Given the description of an element on the screen output the (x, y) to click on. 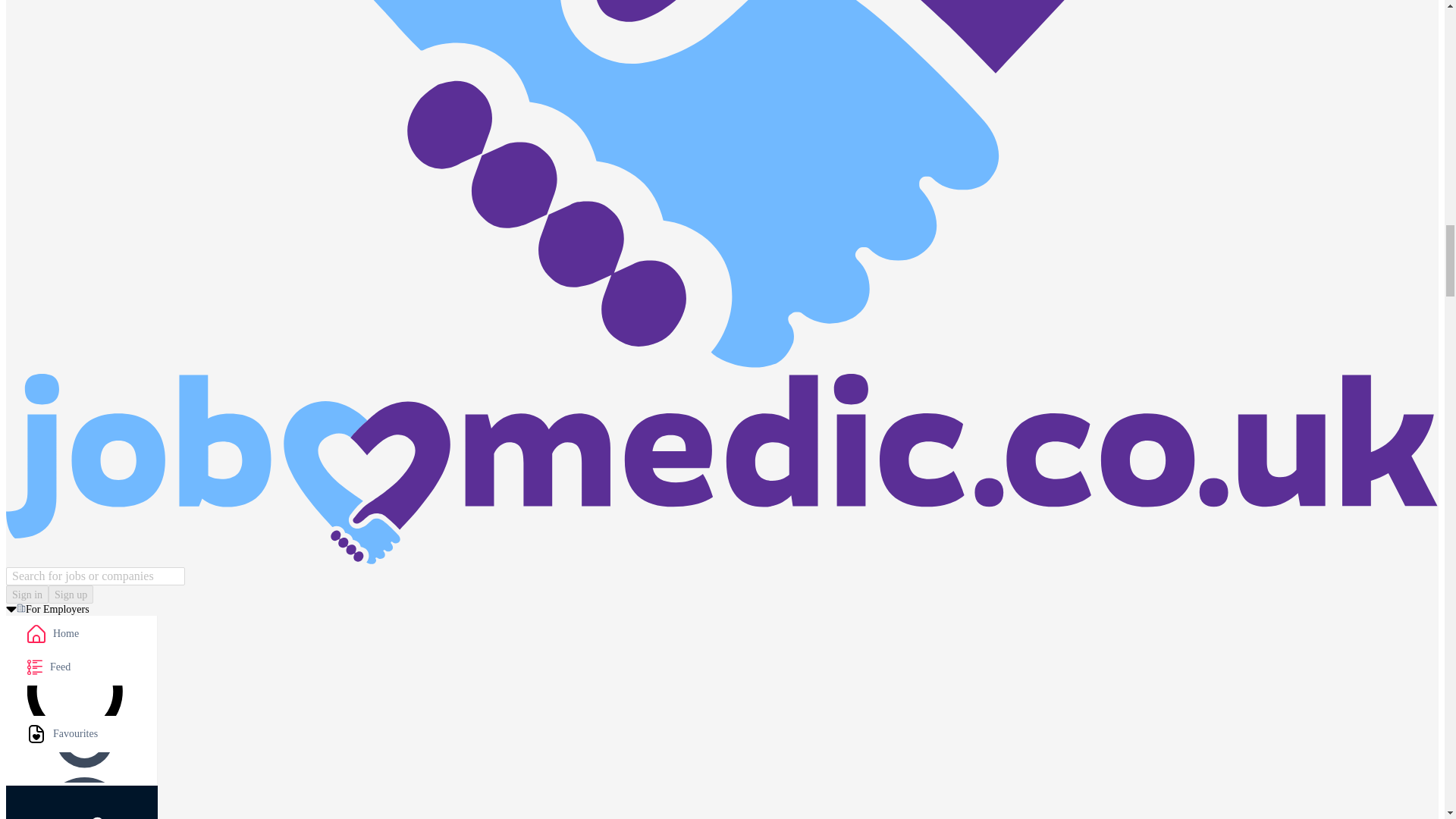
Sign in (26, 594)
Sign up (70, 594)
